Given the description of an element on the screen output the (x, y) to click on. 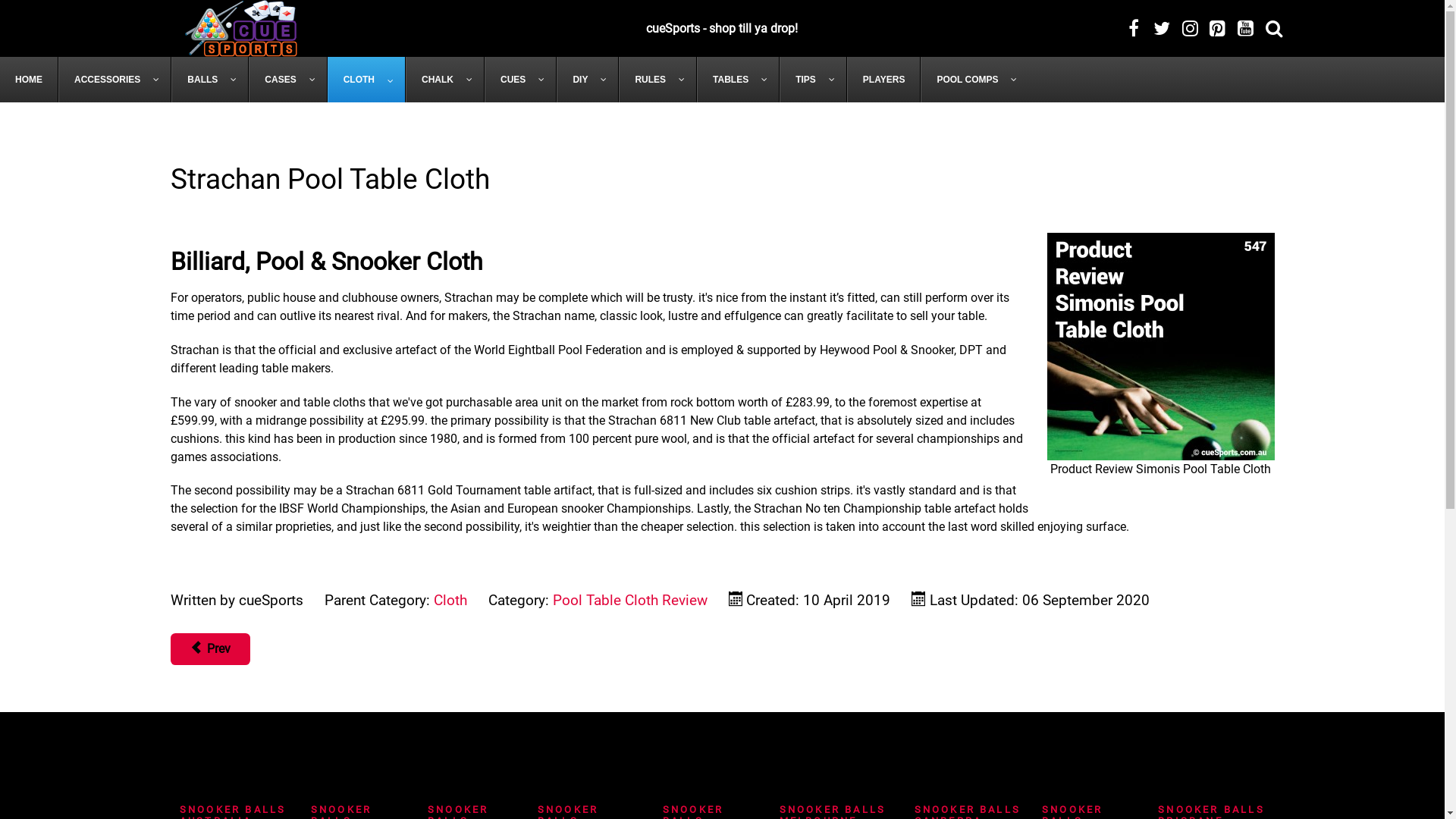
POOL COMPS Element type: text (974, 79)
BALLS Element type: text (209, 79)
CuesportsTv Element type: hover (1247, 28)
RULES Element type: text (657, 79)
Search Element type: hover (1273, 28)
ACCESSORIES Element type: text (114, 79)
Product Review Simonis Pool Table Cloth Element type: hover (1160, 346)
Cuesportstv Element type: hover (1219, 28)
HOME Element type: text (29, 79)
TABLES Element type: text (737, 79)
Cuesportstv Element type: hover (1136, 28)
CHALK Element type: text (444, 79)
Prev Element type: text (209, 649)
PLAYERS Element type: text (884, 79)
Cuesportstv Element type: hover (1192, 28)
Cloth Element type: text (450, 599)
TIPS Element type: text (813, 79)
CLOTH Element type: text (366, 79)
CUES Element type: text (520, 79)
Cue Sports Element type: hover (240, 28)
CueSportsTV Element type: hover (1164, 28)
Pool Table Cloth Review Element type: text (629, 599)
DIY Element type: text (587, 79)
CASES Element type: text (287, 79)
